Given the description of an element on the screen output the (x, y) to click on. 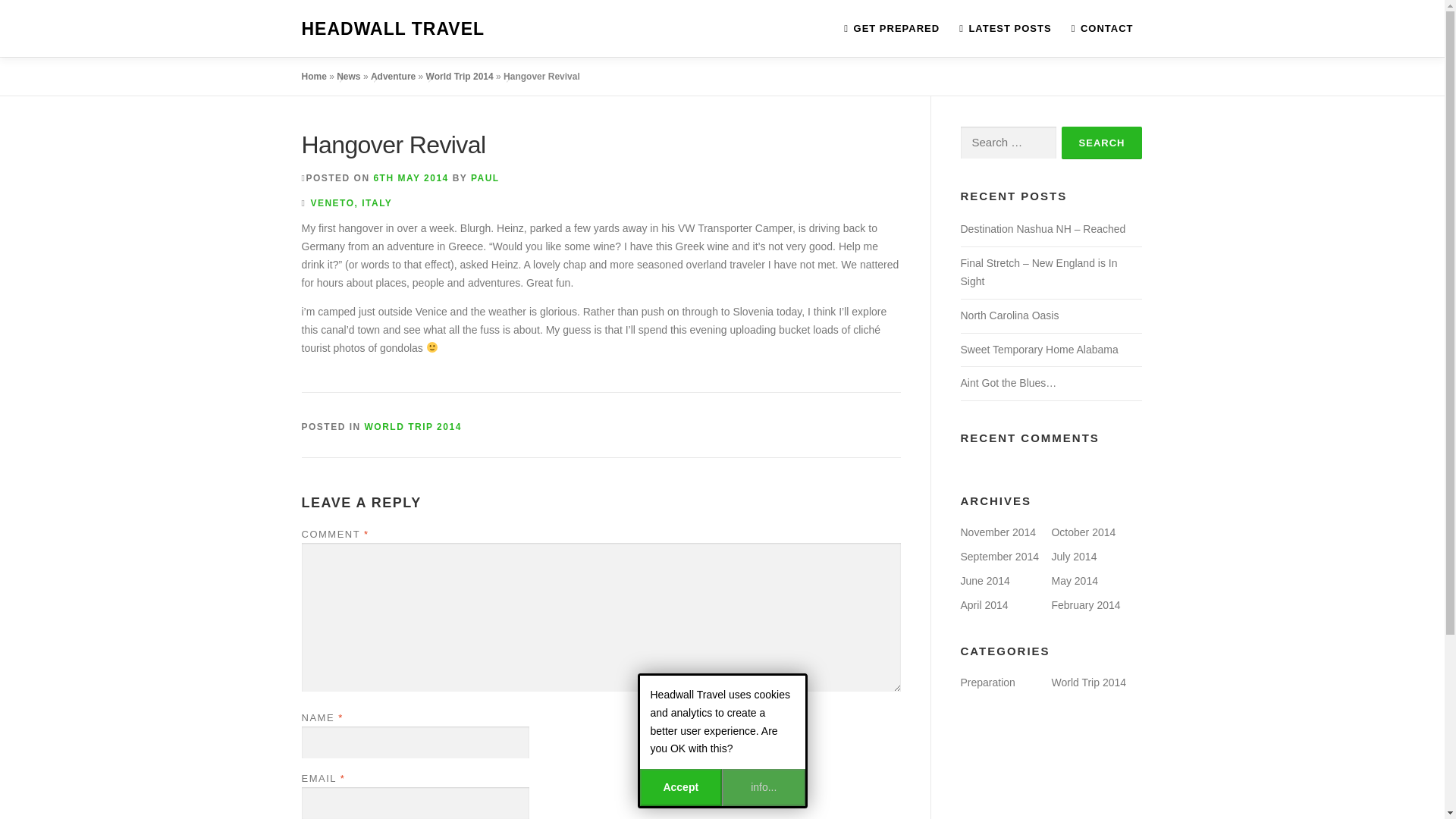
November 2014 (997, 532)
World Trip 2014 (459, 76)
info... (763, 787)
September 2014 (999, 556)
Accept (681, 787)
North Carolina Oasis (1008, 315)
Home (313, 76)
Search (1101, 142)
Preparation (986, 682)
April 2014 (983, 604)
June 2014 (984, 580)
6TH MAY 2014 (410, 177)
News (347, 76)
HEADWALL TRAVEL (392, 29)
Adventure (392, 76)
